Given the description of an element on the screen output the (x, y) to click on. 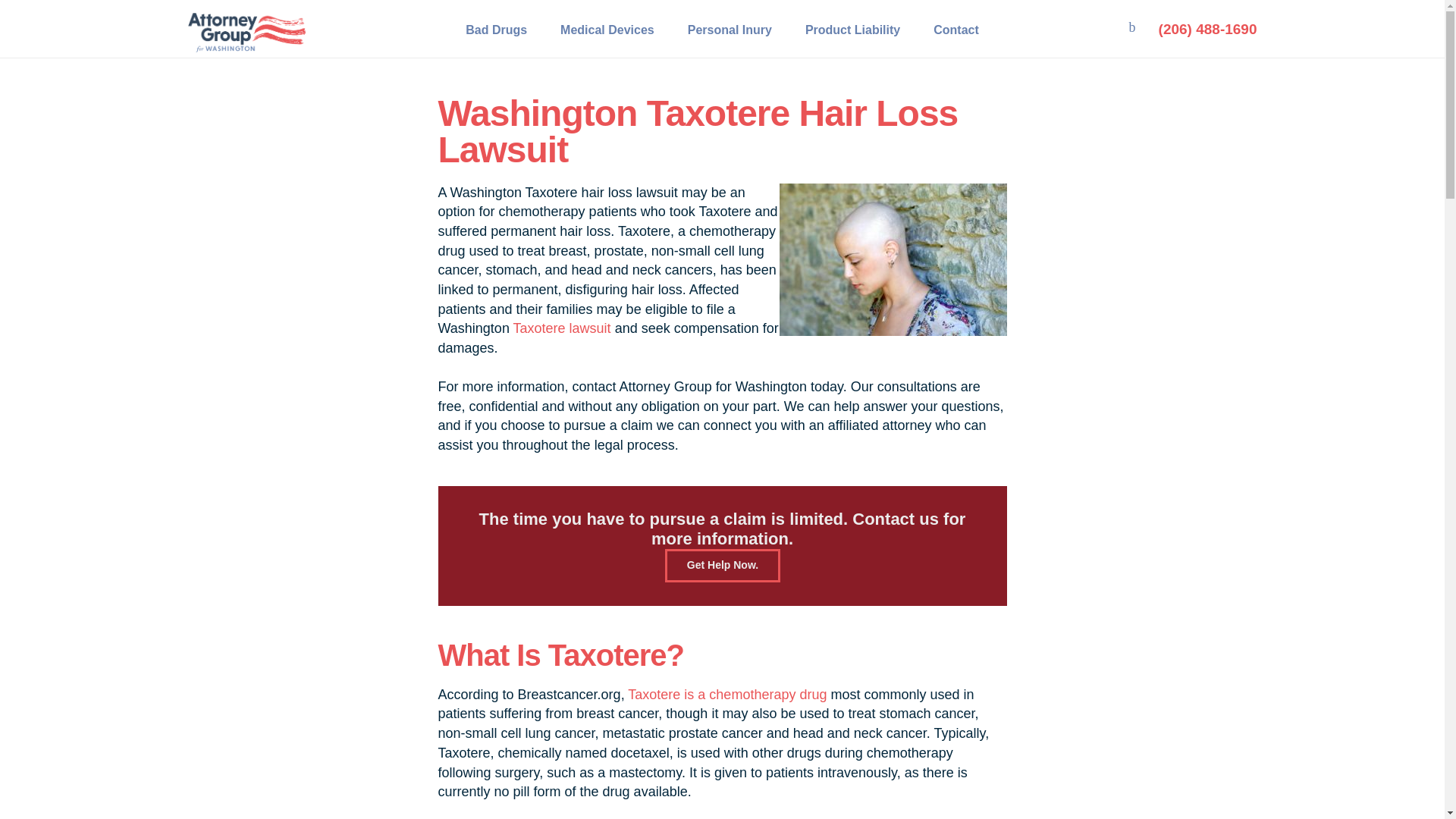
Taxotere is a chemotherapy drug (727, 694)
Attorney Group for Washington (363, 18)
Lawsuits (466, 18)
Medical Devices (607, 28)
Bad Drugs (495, 28)
Washington Dangerous Drug Attorney (585, 18)
Personal Inury (730, 28)
Get Help Now. (720, 565)
Medical Devices (607, 28)
Bad Drugs (495, 28)
Product Liability (853, 28)
Taxotere lawsuit (562, 328)
Personal Inury (730, 28)
Contact (956, 28)
Product Liability (853, 28)
